Given the description of an element on the screen output the (x, y) to click on. 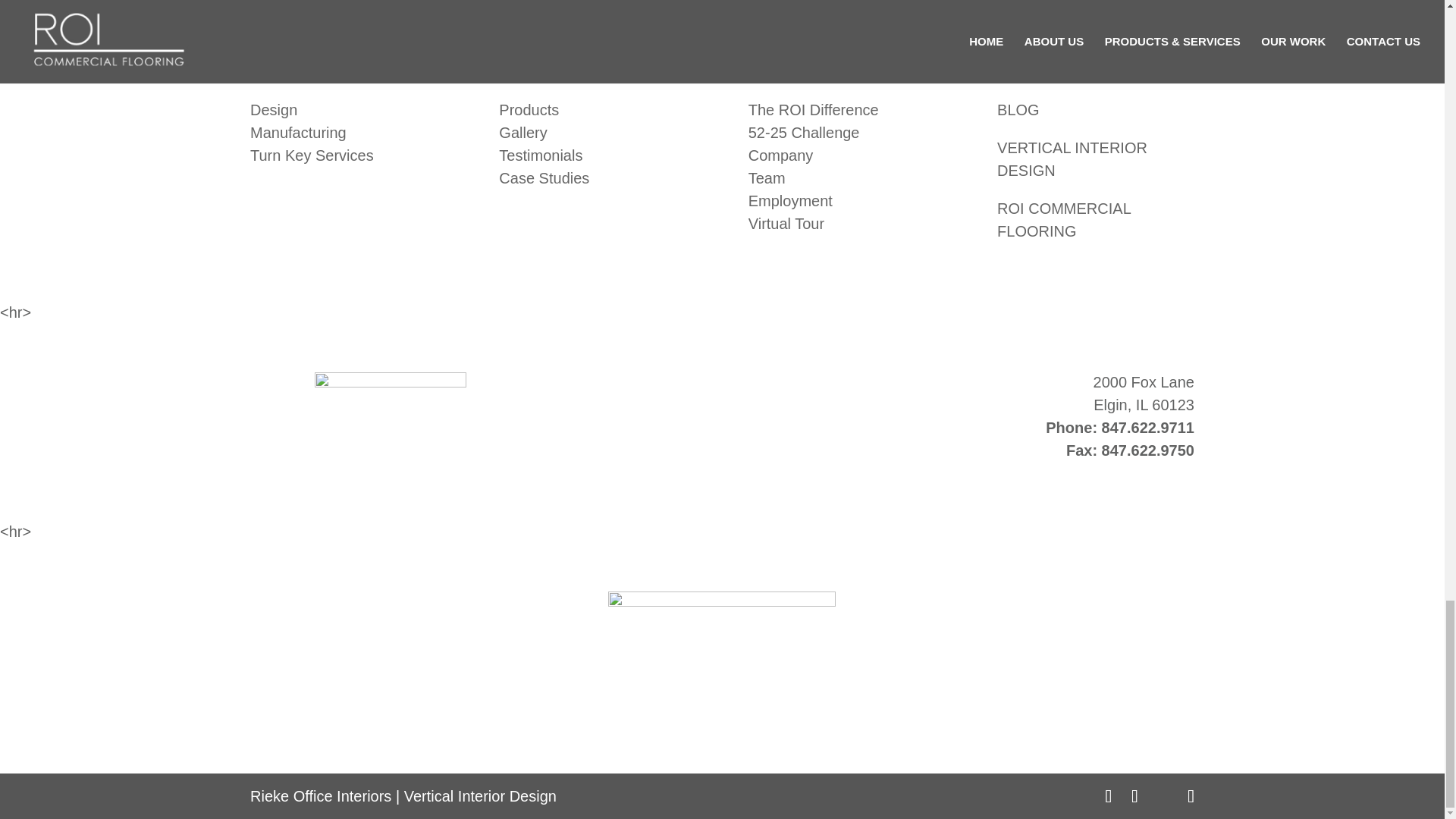
VERTICAL INTERIOR DESIGN (1072, 159)
ABOUT (774, 71)
PORTFOLIO (542, 71)
Vertical Interior Design (480, 795)
ROI COMMERCIAL FLOORING (1064, 219)
Company (780, 155)
BLOG (1018, 109)
Team (767, 177)
Turn Key Services (312, 155)
Manufacturing (298, 132)
